Given the description of an element on the screen output the (x, y) to click on. 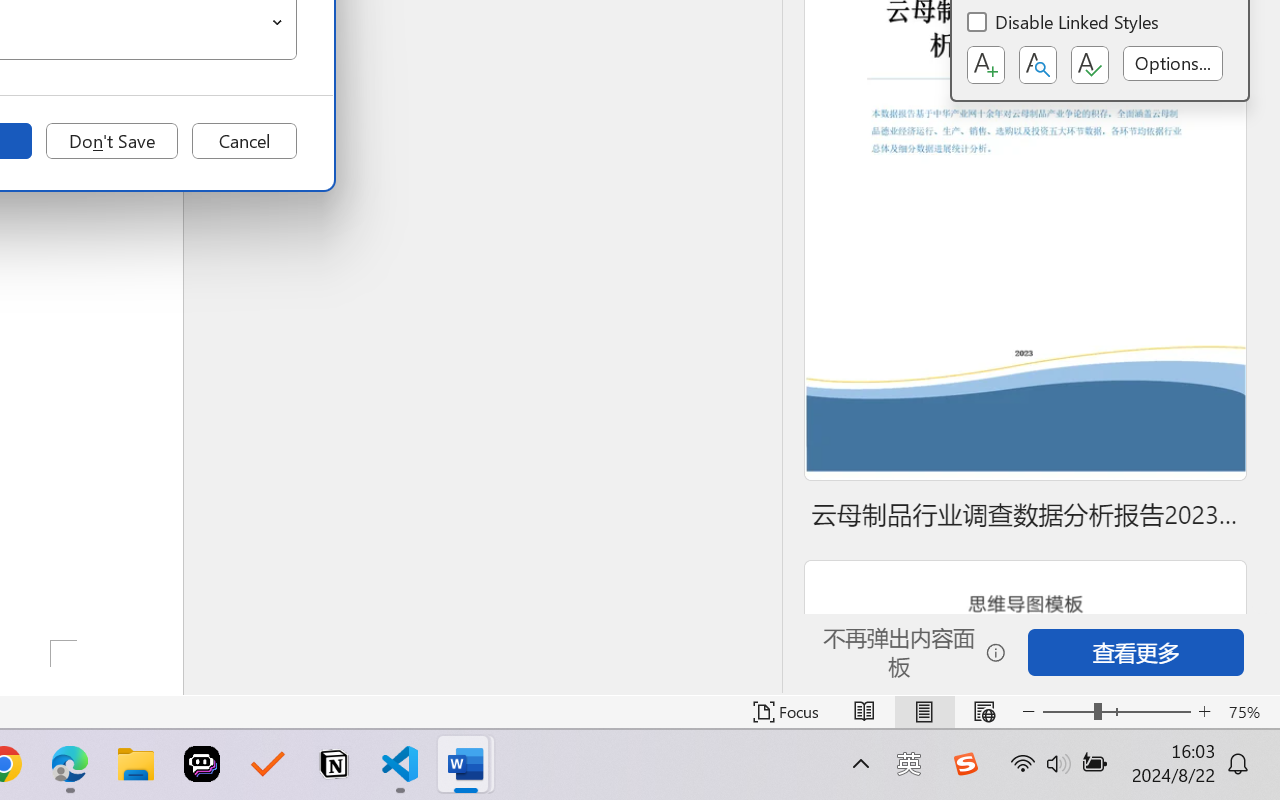
Class: Image (965, 764)
Class: NetUIButton (1089, 65)
Don't Save (111, 141)
Read Mode (864, 712)
Cancel (244, 141)
Disable Linked Styles (1064, 24)
Poe (201, 764)
Zoom In (1204, 712)
